Given the description of an element on the screen output the (x, y) to click on. 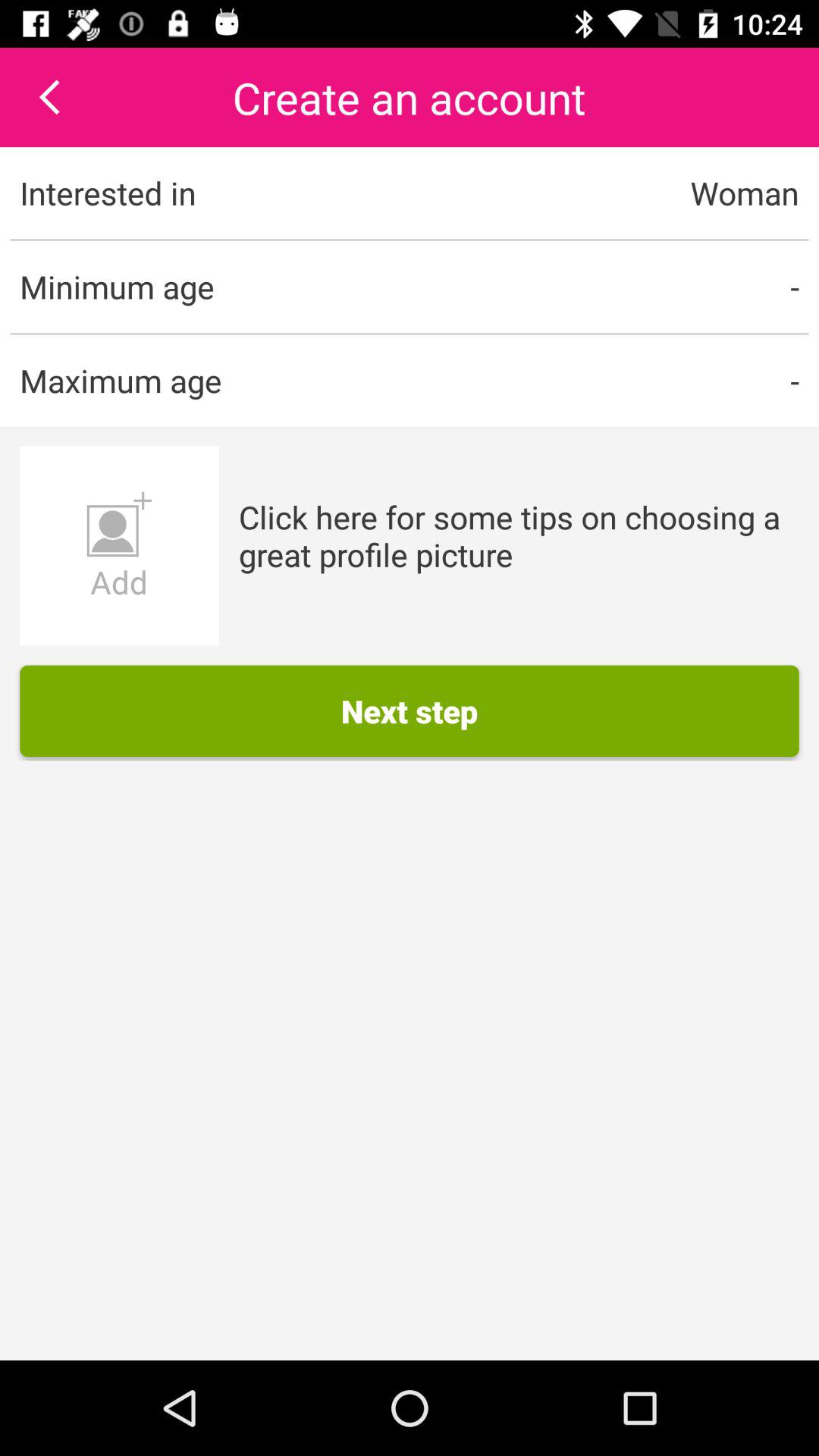
turn on item above next step icon (518, 535)
